Given the description of an element on the screen output the (x, y) to click on. 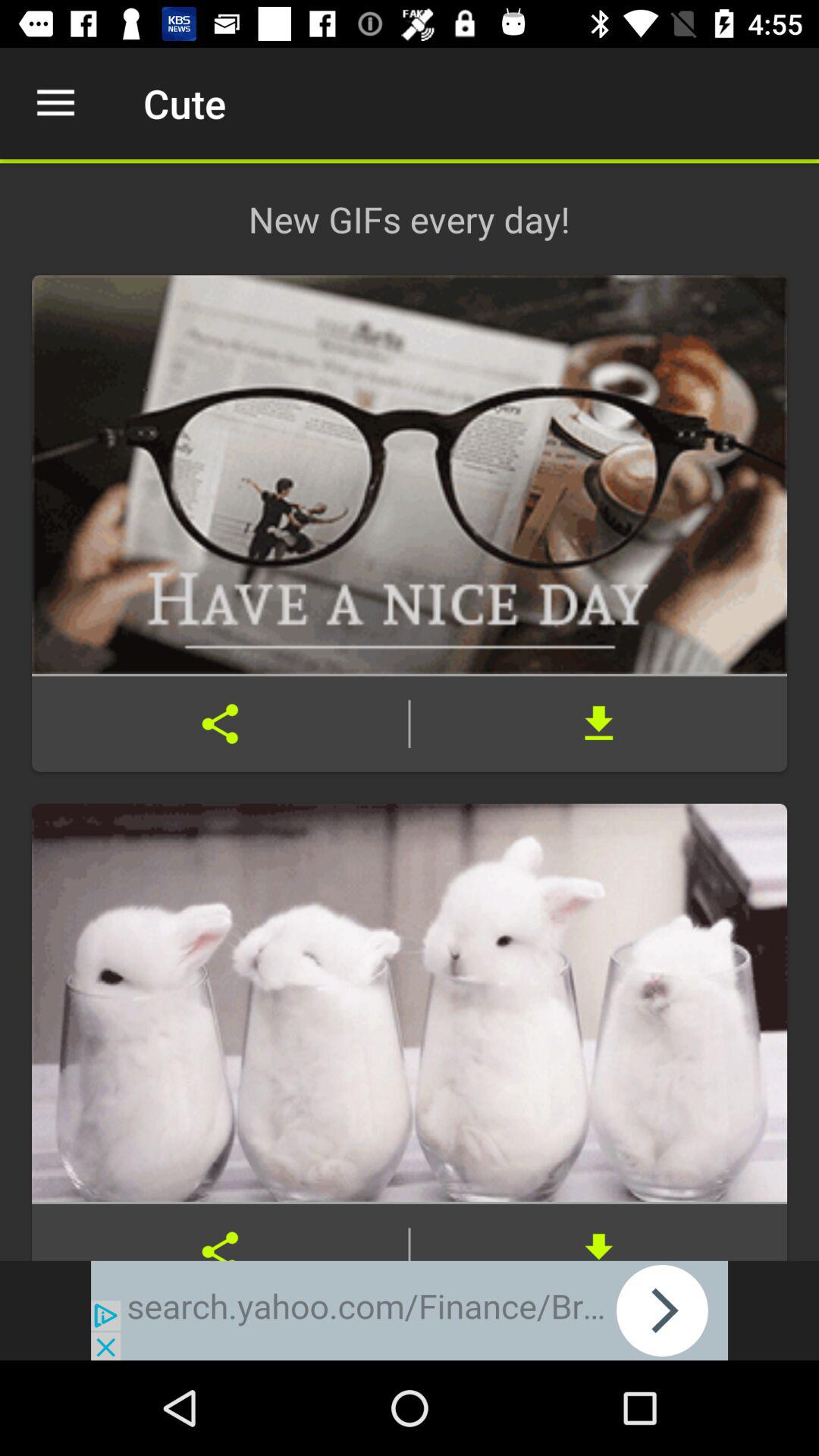
go to next (409, 1310)
